Given the description of an element on the screen output the (x, y) to click on. 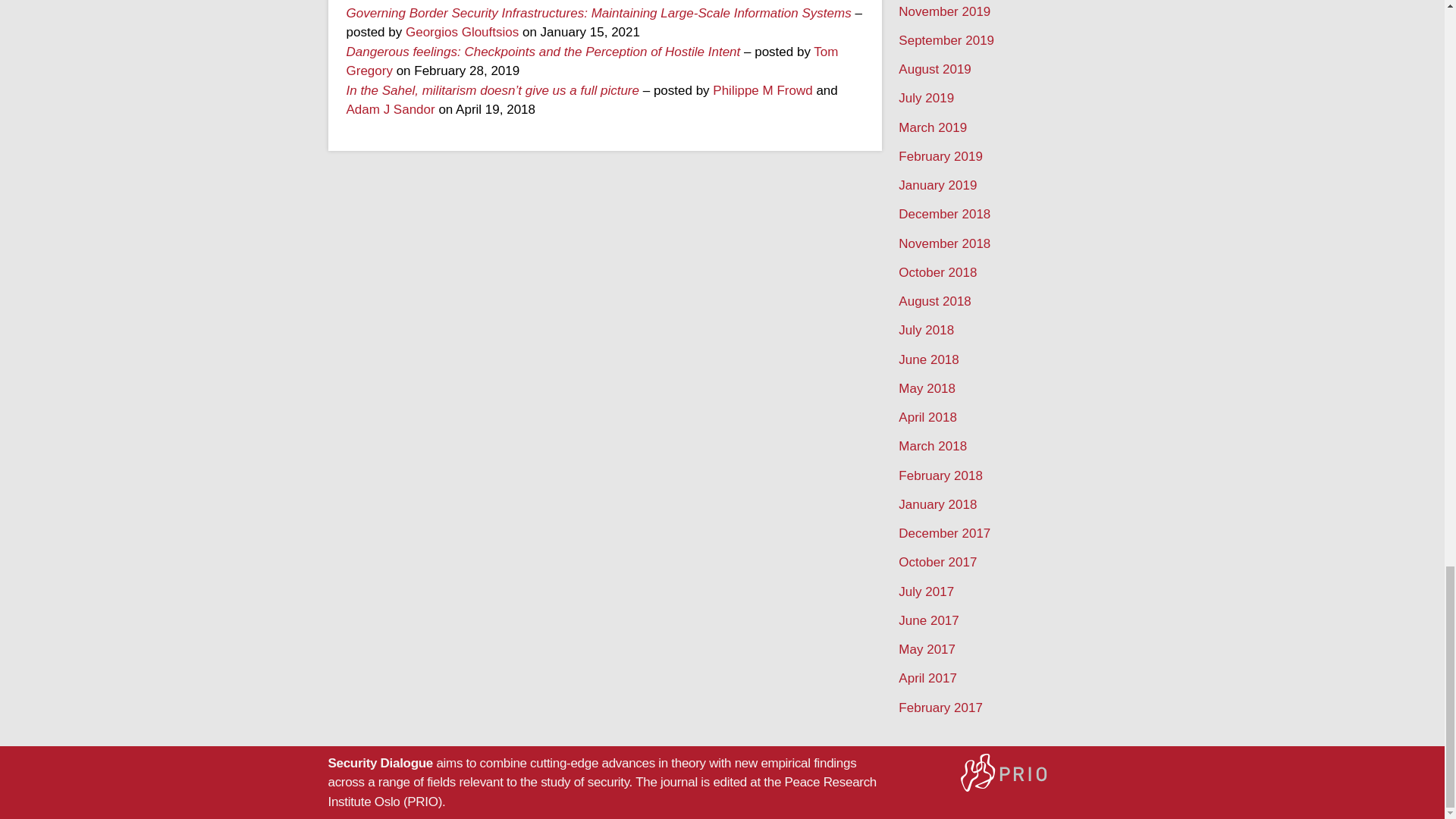
Posts by Tom Gregory (592, 61)
Posts by Adam J Sandor (389, 109)
Tom Gregory (592, 61)
Posts by Philippe M Frowd (762, 90)
Adam J Sandor (389, 109)
Philippe M Frowd (762, 90)
Posts by Georgios Glouftsios (462, 32)
Georgios Glouftsios (462, 32)
